Given the description of an element on the screen output the (x, y) to click on. 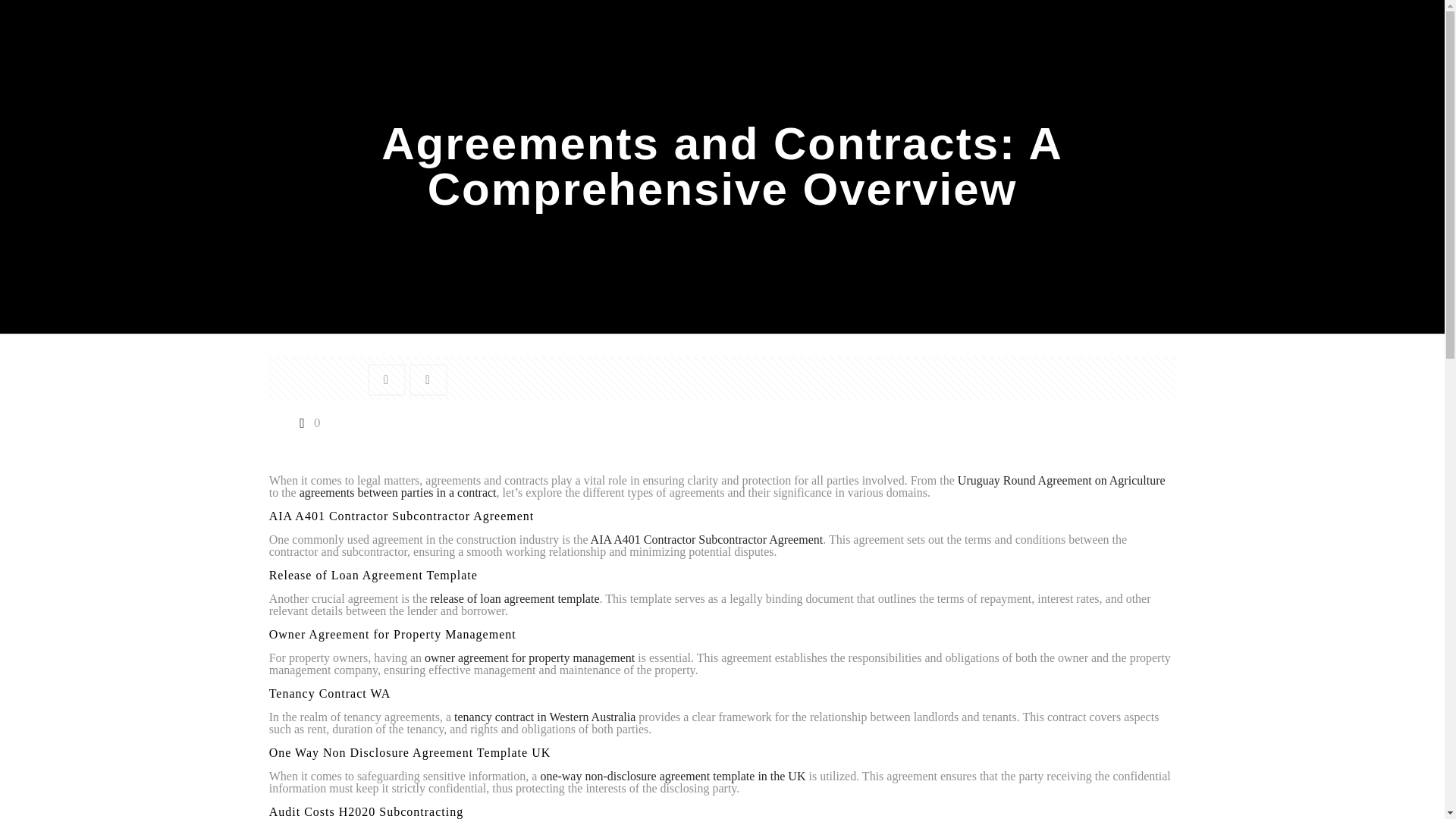
one-way non-disclosure agreement template in the UK (672, 775)
0 (306, 422)
agreements between parties in a contract (397, 492)
Uruguay Round Agreement on Agriculture (1062, 480)
release of loan agreement template (513, 598)
AIA A401 Contractor Subcontractor Agreement (707, 539)
owner agreement for property management (529, 657)
tenancy contract in Western Australia (544, 716)
